Given the description of an element on the screen output the (x, y) to click on. 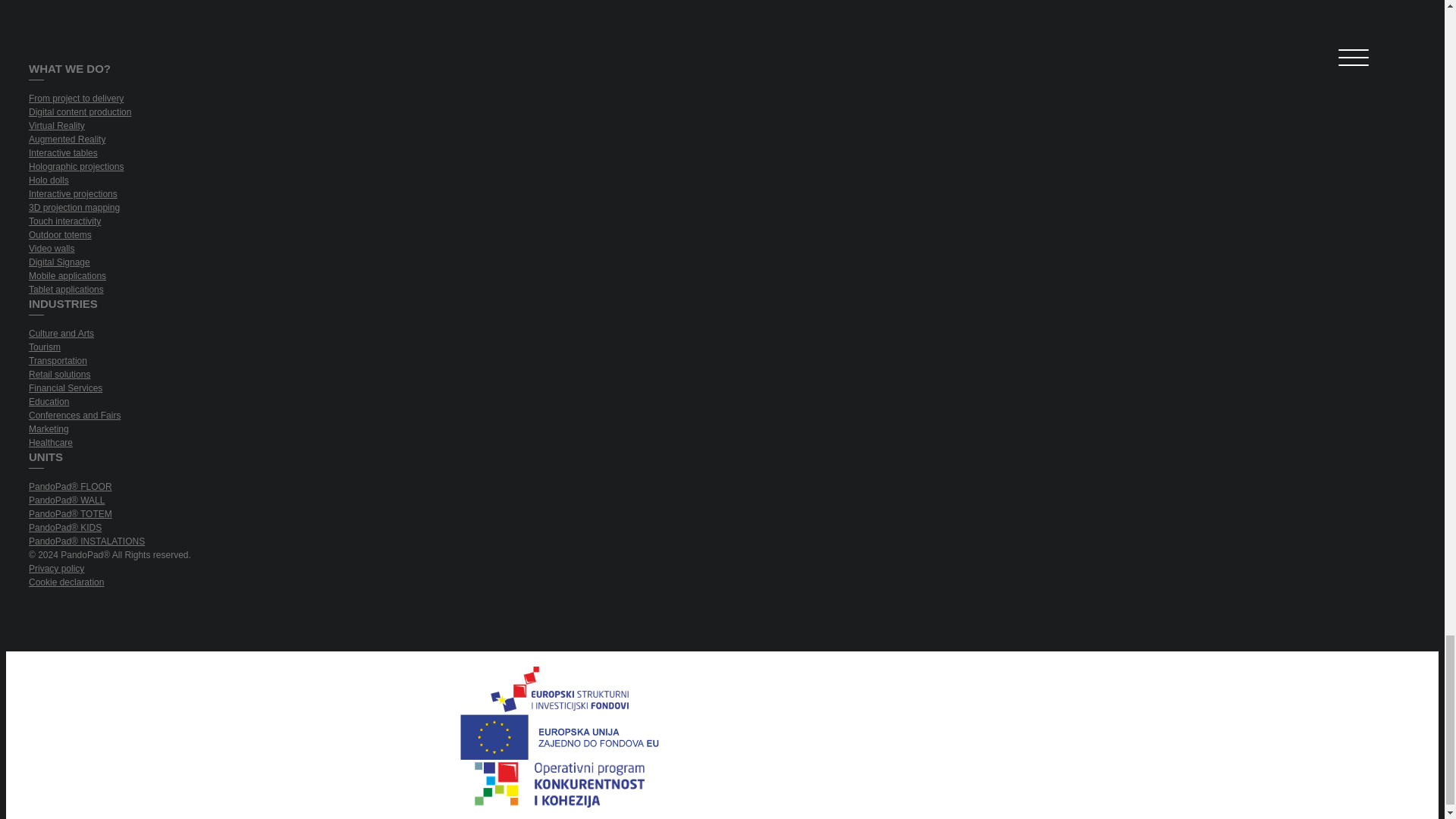
From project to delivery (559, 100)
